Given the description of an element on the screen output the (x, y) to click on. 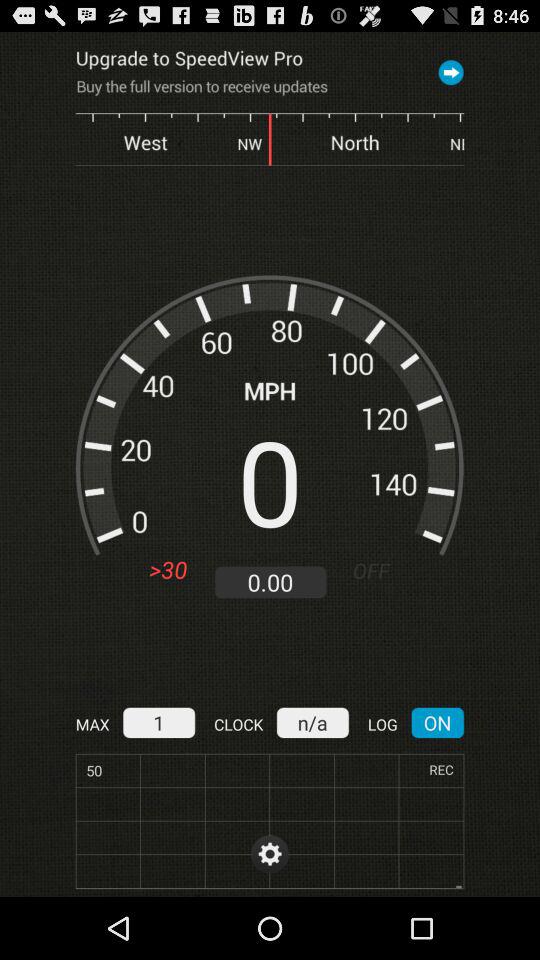
open the app below >30 icon (158, 722)
